Given the description of an element on the screen output the (x, y) to click on. 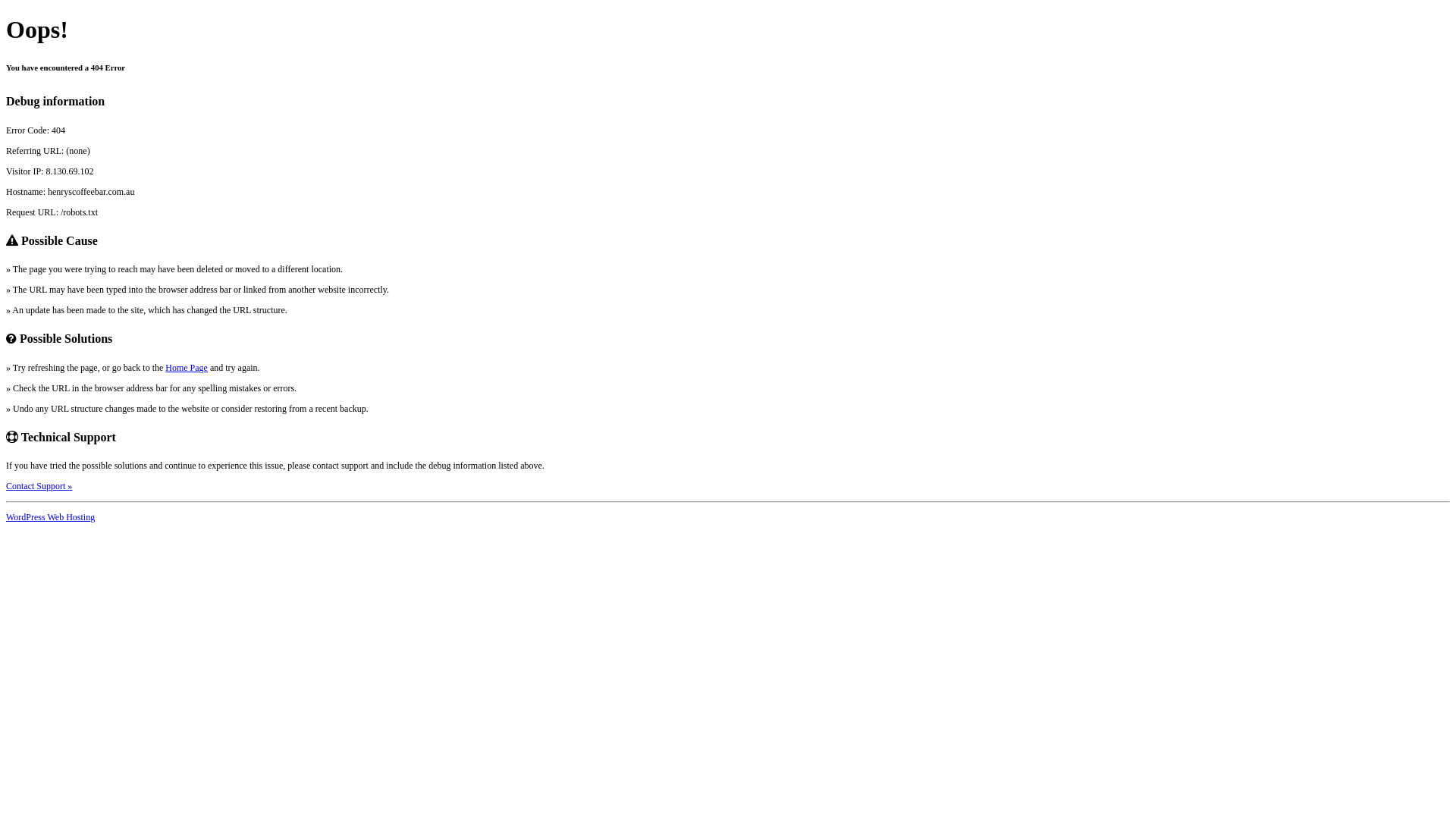
WordPress Web Hosting Element type: text (50, 516)
Home Page Element type: text (186, 367)
